Given the description of an element on the screen output the (x, y) to click on. 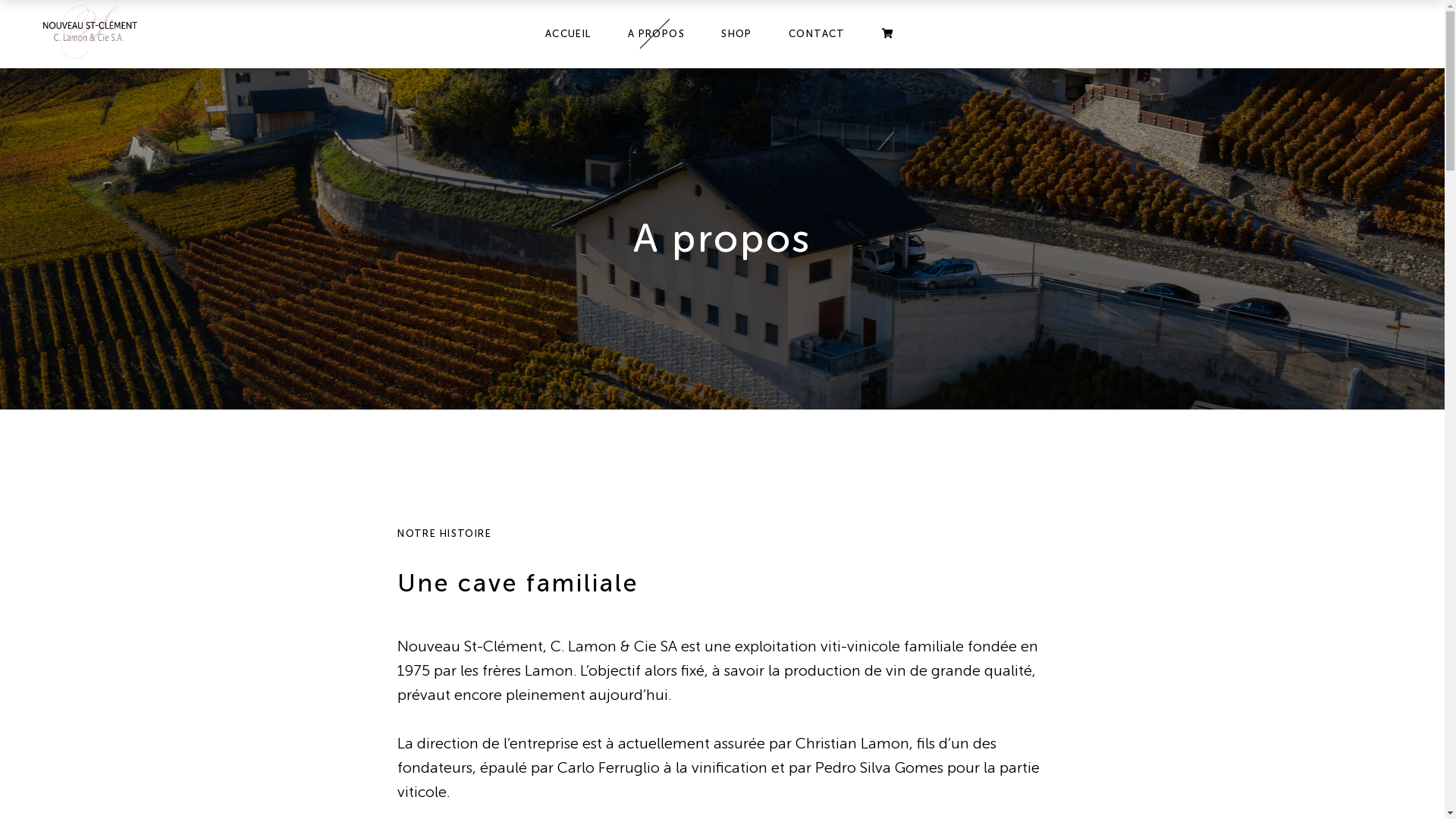
ACCUEIL Element type: text (568, 33)
CONTACT Element type: text (816, 33)
A PROPOS Element type: text (655, 33)
SHOP Element type: text (736, 33)
